Given the description of an element on the screen output the (x, y) to click on. 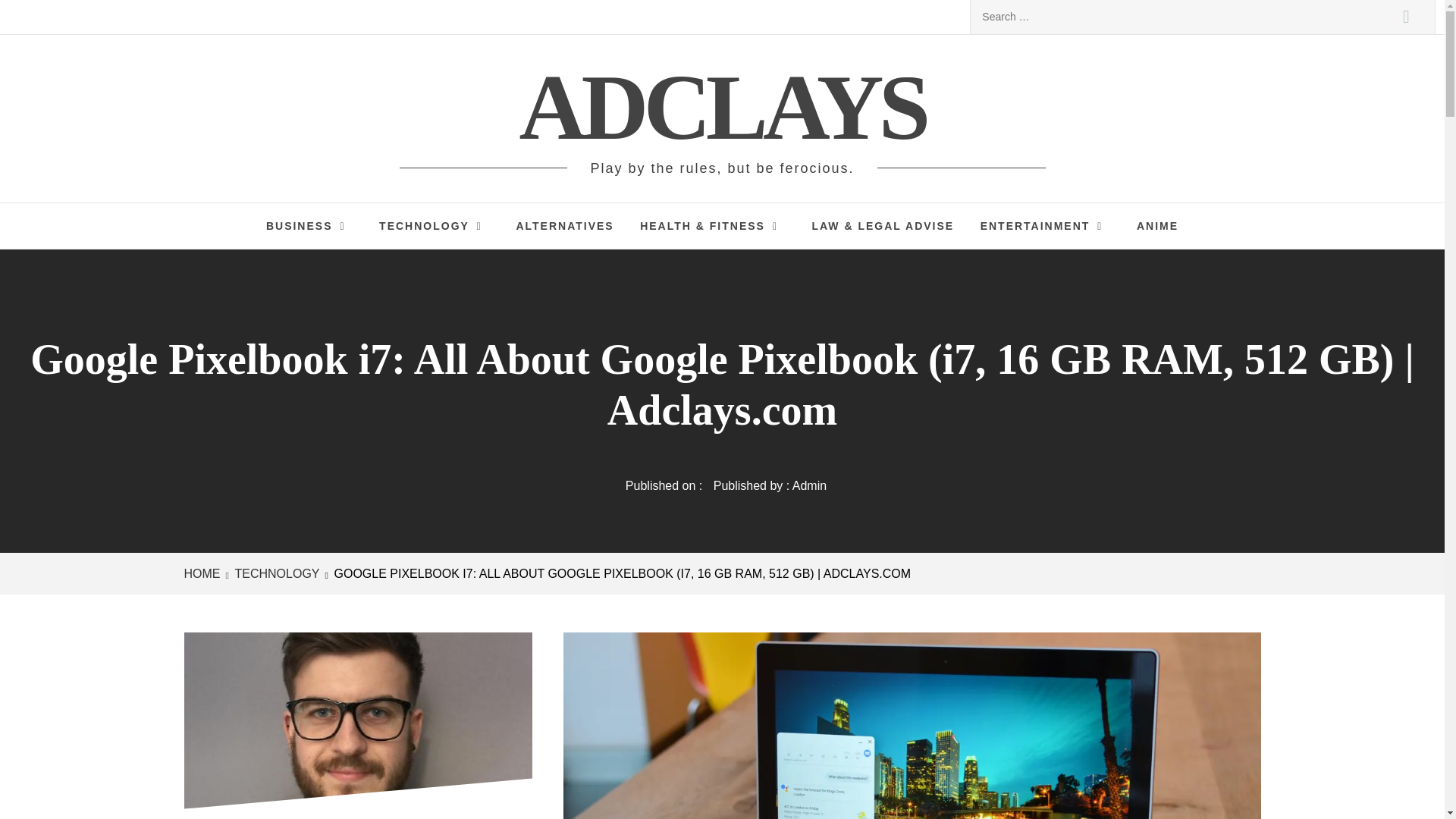
Search (1405, 17)
ENTERTAINMENT (1045, 225)
HOME (204, 573)
Search (1405, 17)
BUSINESS (309, 225)
ADCLAYS (722, 106)
ANIME (1157, 225)
Search (1405, 17)
TECHNOLOGY (274, 573)
TECHNOLOGY (434, 225)
ALTERNATIVES (563, 225)
Admin (809, 485)
